Given the description of an element on the screen output the (x, y) to click on. 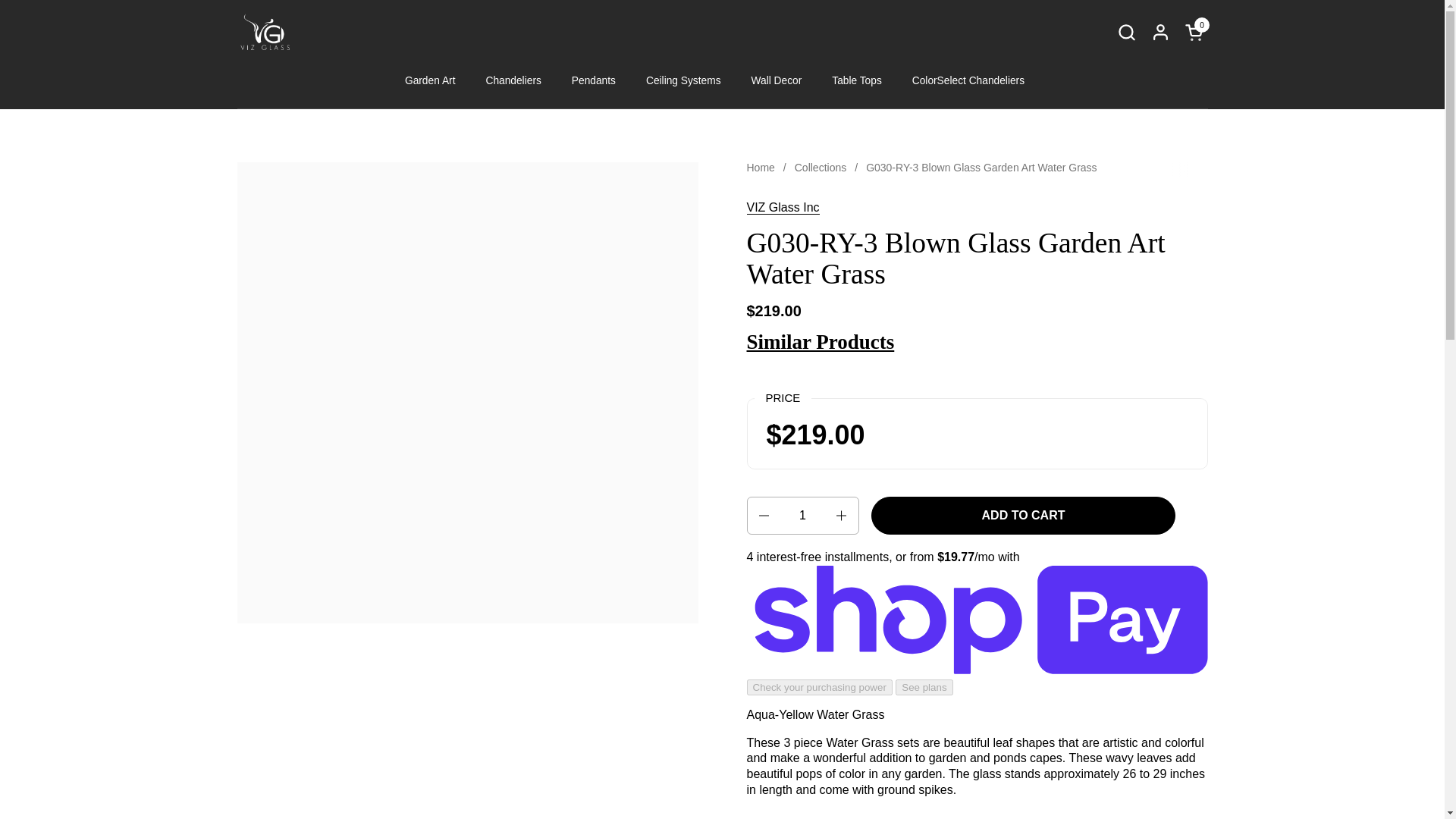
Table Tops (856, 80)
Garden Art (430, 80)
Pendants (593, 80)
Collections (819, 168)
Wall Decor (776, 80)
Open search (1125, 31)
Chandeliers (513, 80)
ColorSelect Chandeliers (967, 80)
VIZ Glass Inc. (264, 32)
VIZ Glass Inc (781, 207)
Home (759, 168)
ADD TO CART (1022, 515)
VIZ Glass Inc (781, 207)
Ceiling Systems (683, 80)
